Given the description of an element on the screen output the (x, y) to click on. 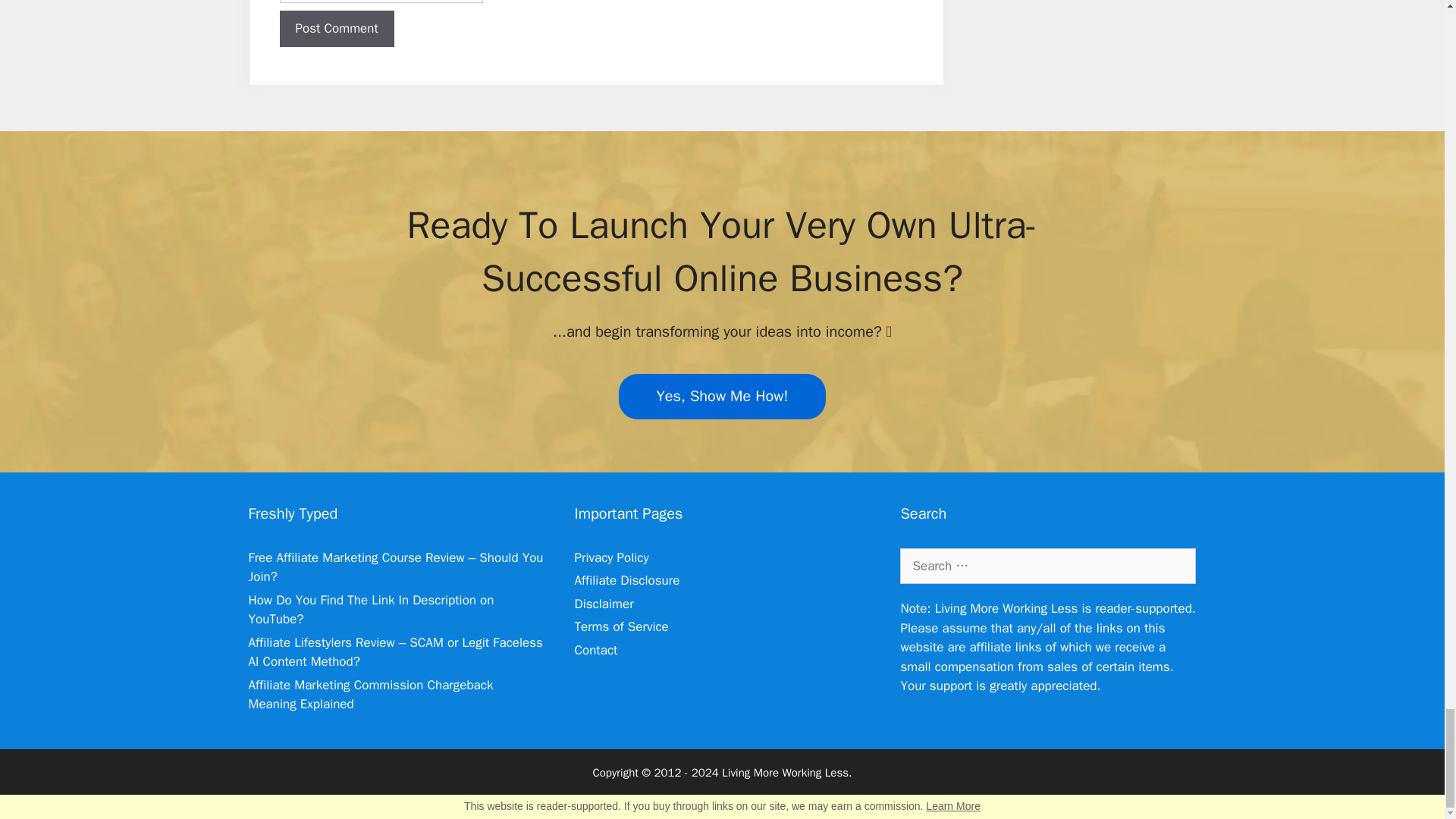
Search for: (1047, 565)
Post Comment (336, 28)
